Given the description of an element on the screen output the (x, y) to click on. 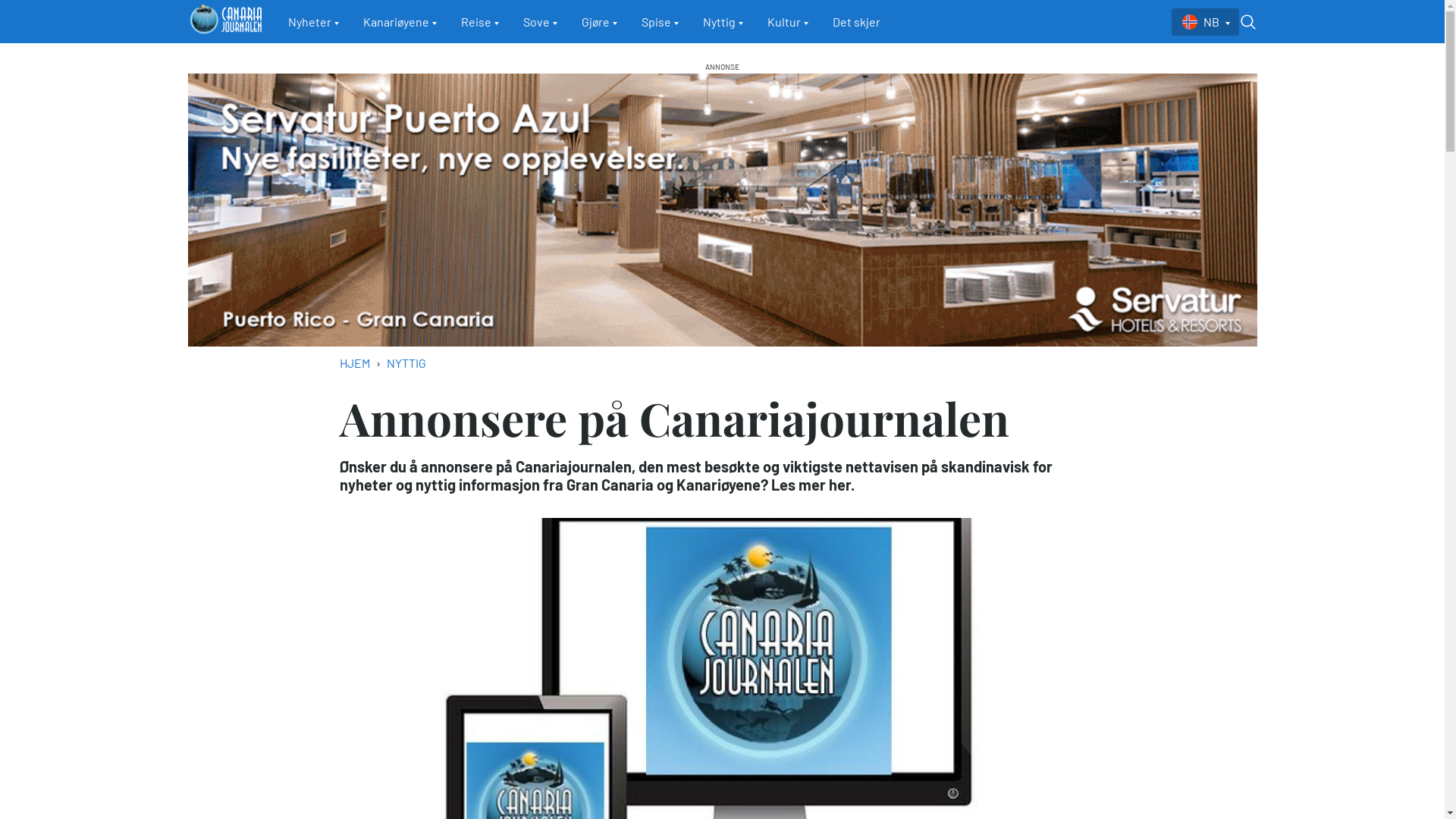
Kultur Element type: text (787, 21)
Nyheter Element type: text (313, 21)
Det skjer Element type: text (856, 21)
Sove Element type: text (540, 21)
Hopp til hovedinnhold Element type: text (0, 53)
Menu & Search Element type: text (1248, 21)
NB Element type: text (1204, 21)
Hjem Element type: hover (225, 21)
Nyttig Element type: text (722, 21)
HJEM Element type: text (354, 362)
NYTTIG Element type: text (406, 362)
Spise Element type: text (659, 21)
Reise Element type: text (479, 21)
